Given the description of an element on the screen output the (x, y) to click on. 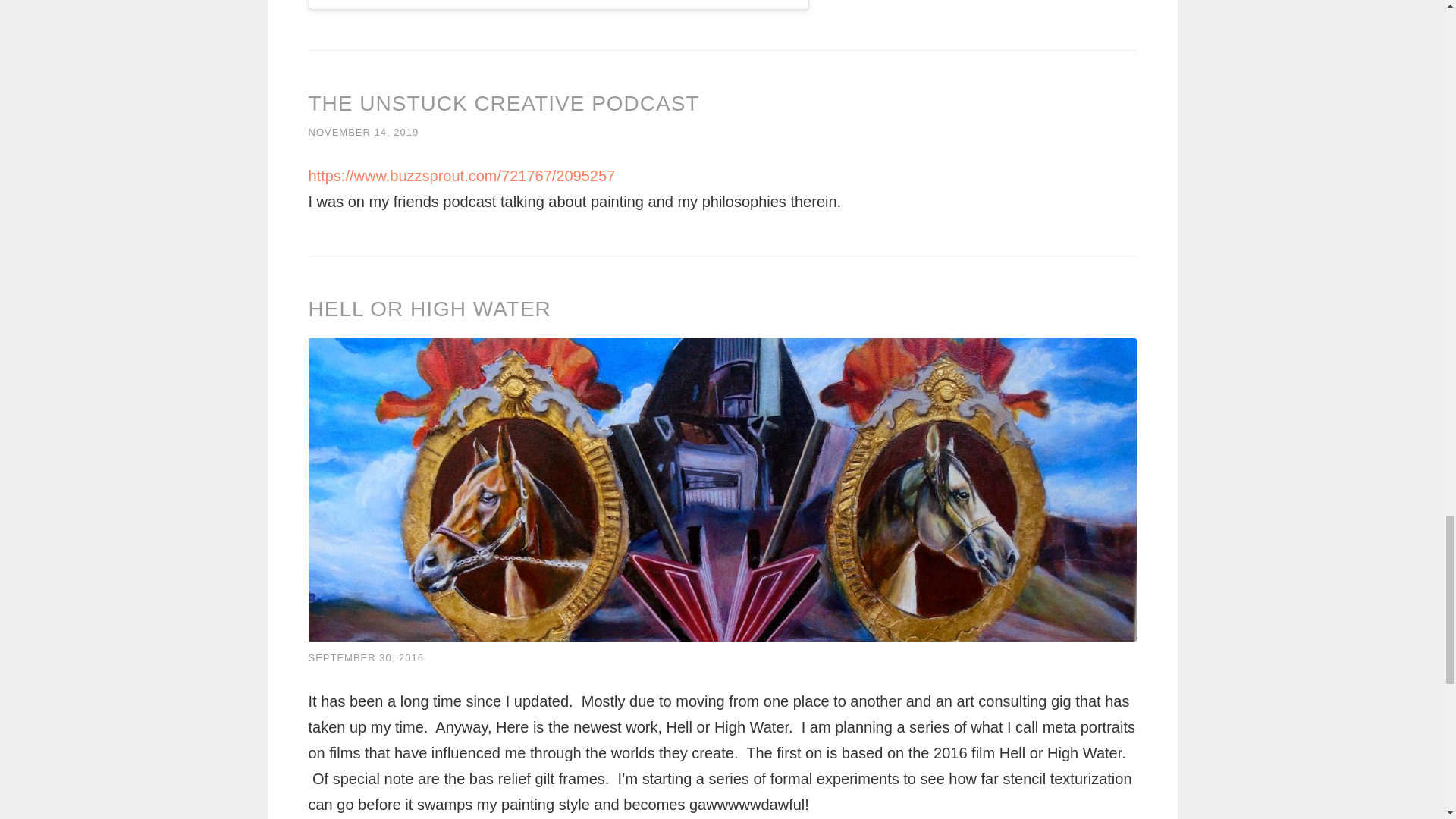
THE UNSTUCK CREATIVE PODCAST (502, 103)
HELL OR HIGH WATER (428, 309)
NOVEMBER 14, 2019 (363, 132)
SEPTEMBER 30, 2016 (365, 657)
